Given the description of an element on the screen output the (x, y) to click on. 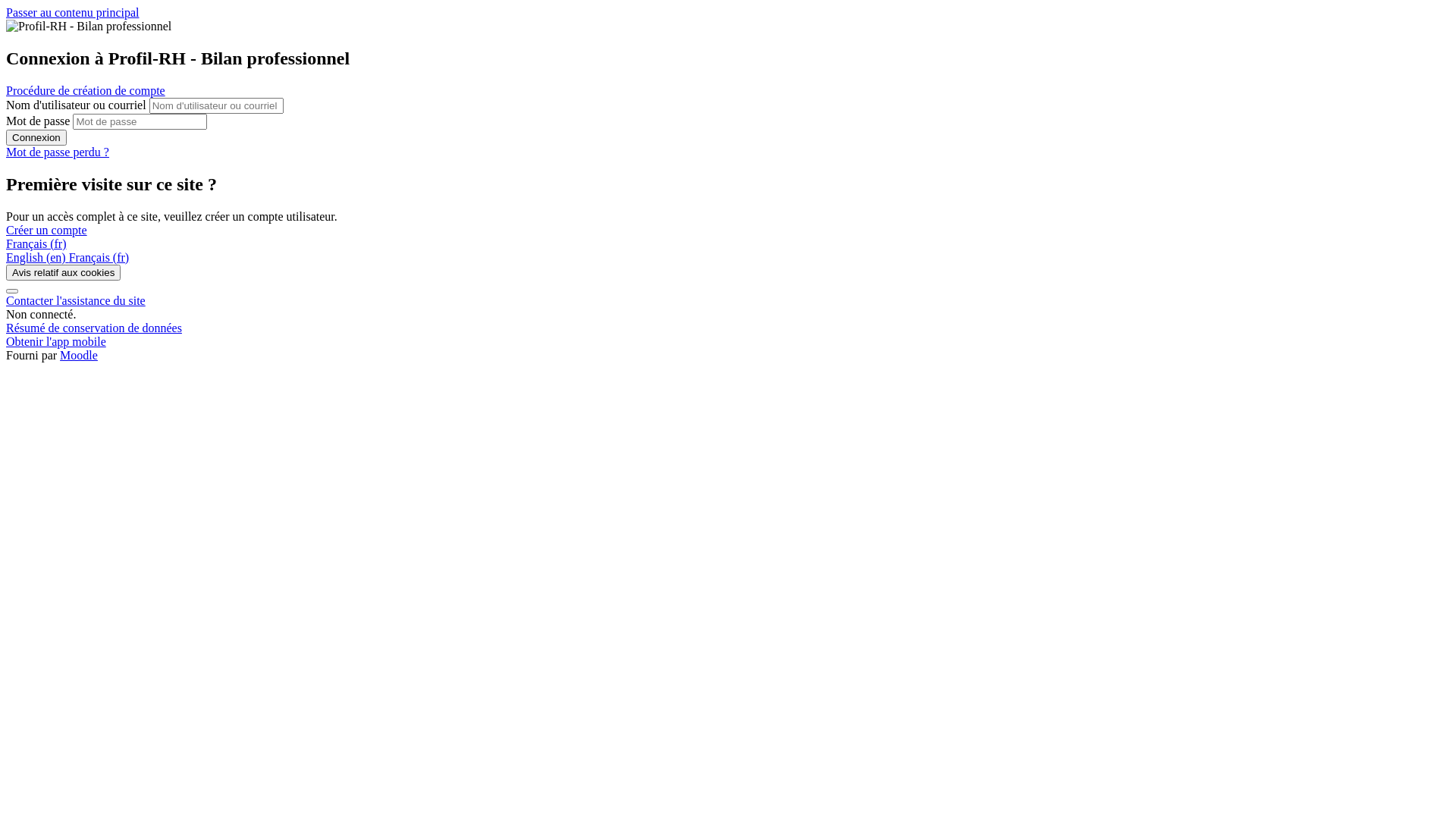
Avis relatif aux cookies Element type: text (63, 272)
Obtenir l'app mobile Element type: text (56, 341)
Moodle Element type: text (78, 354)
Passer au contenu principal Element type: text (72, 12)
English (en) Element type: text (37, 257)
Connexion Element type: text (36, 137)
Contacter l'assistance du site Element type: text (75, 300)
Mot de passe perdu ? Element type: text (57, 151)
